Given the description of an element on the screen output the (x, y) to click on. 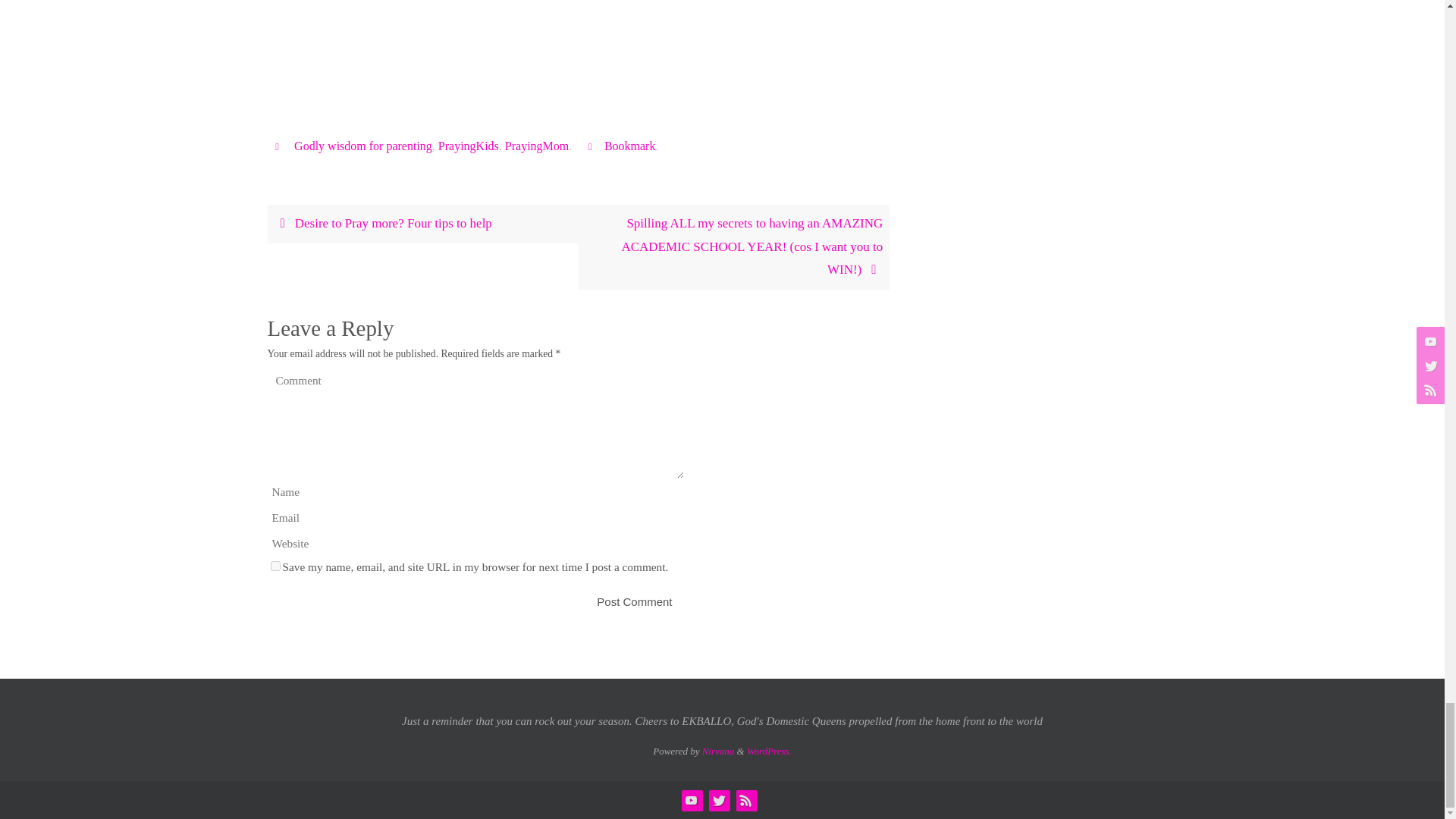
Tagged (278, 145)
Post Comment (634, 601)
yes (274, 565)
PrayingMom (537, 146)
Post Comment (634, 601)
Permalink to Praying for your Kids WITH your kids. (630, 146)
 Bookmark the permalink (592, 145)
Godly wisdom for parenting (363, 146)
Nirvana (718, 750)
Desire to Pray more? Four tips to help (422, 223)
WordPress. (769, 750)
PrayingKids (468, 146)
Bookmark (630, 146)
